Given the description of an element on the screen output the (x, y) to click on. 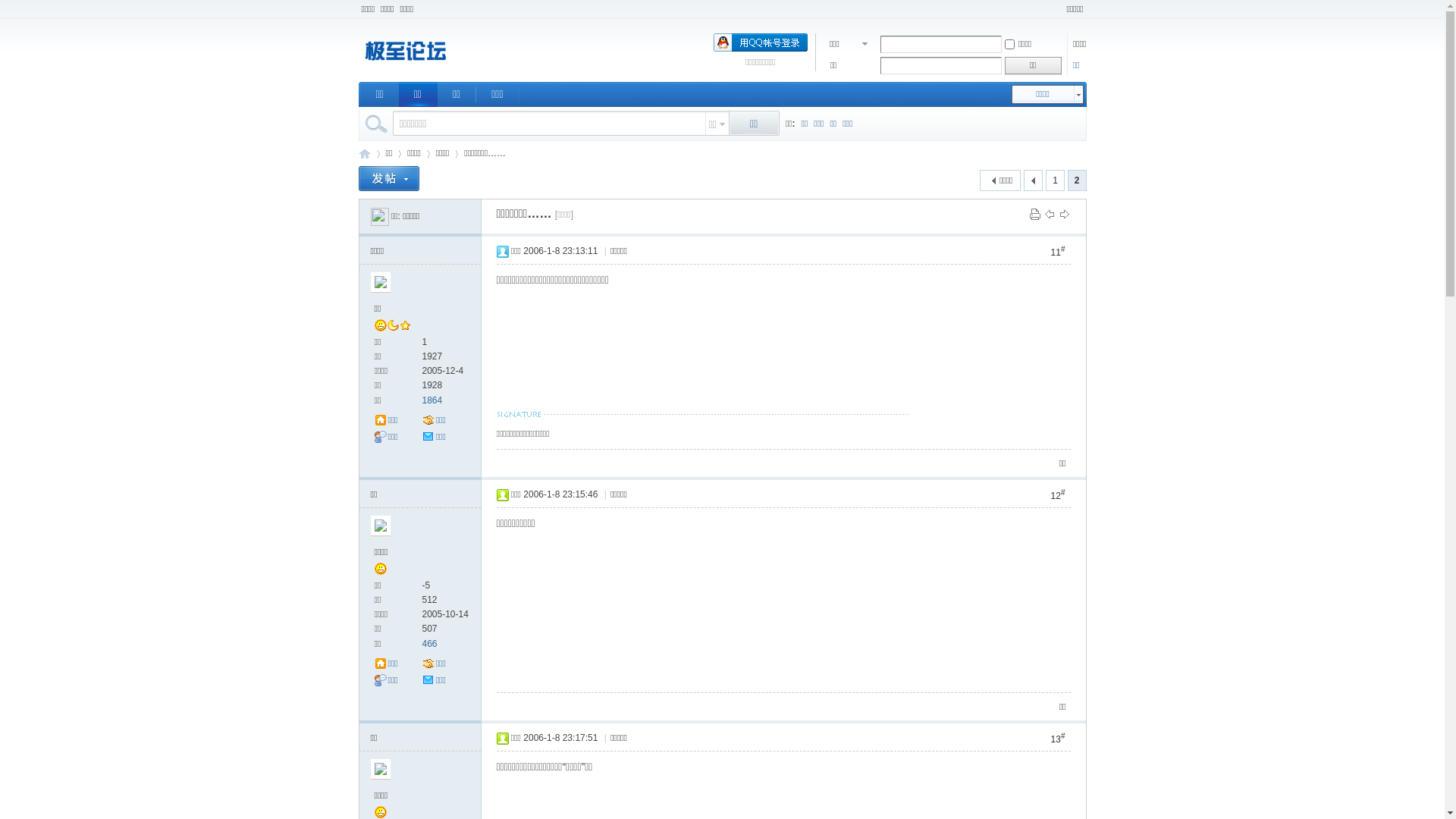
   Element type: text (1032, 180)
11# Element type: text (1057, 251)
1864 Element type: text (431, 400)
1 Element type: text (1054, 180)
12# Element type: text (1057, 494)
466 Element type: text (428, 643)
13# Element type: text (1057, 737)
